Given the description of an element on the screen output the (x, y) to click on. 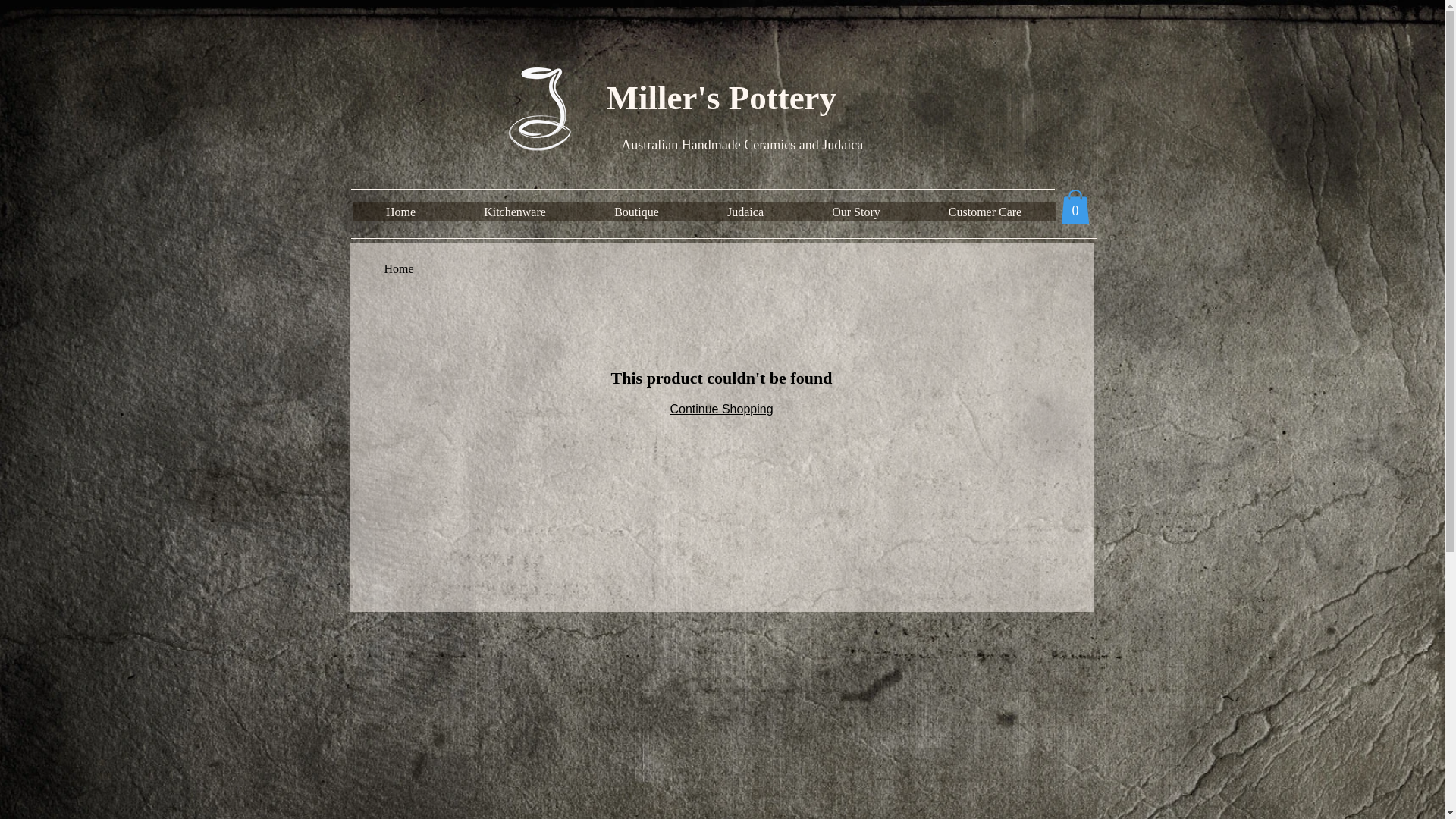
Continue Shopping Element type: text (720, 408)
Boutique Element type: text (635, 211)
Kitchenware Element type: text (513, 211)
Home Element type: text (398, 268)
Home Element type: text (399, 211)
0 Element type: text (1074, 206)
Judaica Element type: text (745, 211)
Miller's Pottery Element type: hover (540, 108)
